Given the description of an element on the screen output the (x, y) to click on. 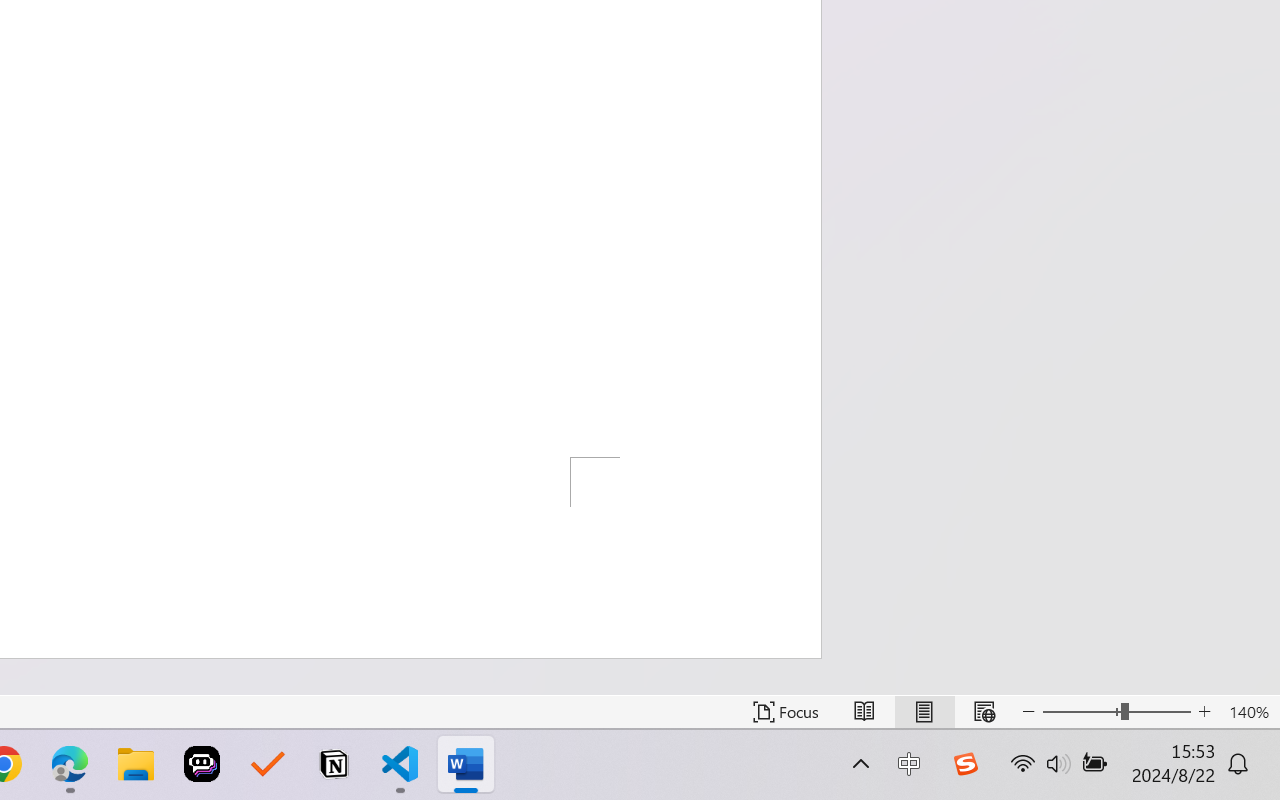
Zoom Out (1081, 712)
Zoom In (1204, 712)
Read Mode (864, 712)
Web Layout (984, 712)
Zoom 140% (1249, 712)
Focus  (786, 712)
